Given the description of an element on the screen output the (x, y) to click on. 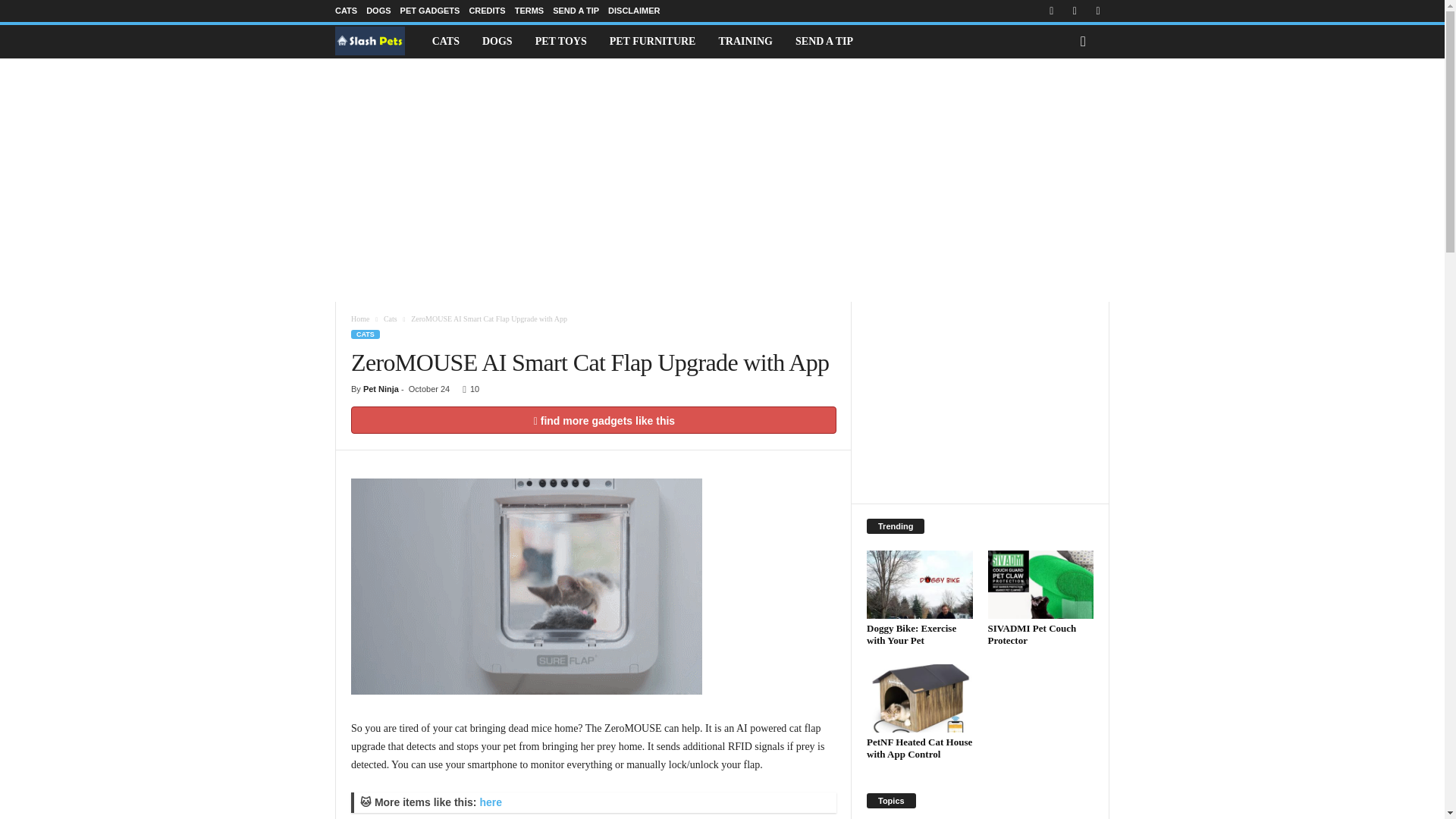
CATS (445, 41)
CREDITS (486, 10)
CATS (345, 10)
PET GADGETS (430, 10)
SEND A TIP (575, 10)
DOGS (378, 10)
DISCLAIMER (633, 10)
Slash Pets (377, 41)
TERMS (529, 10)
